Given the description of an element on the screen output the (x, y) to click on. 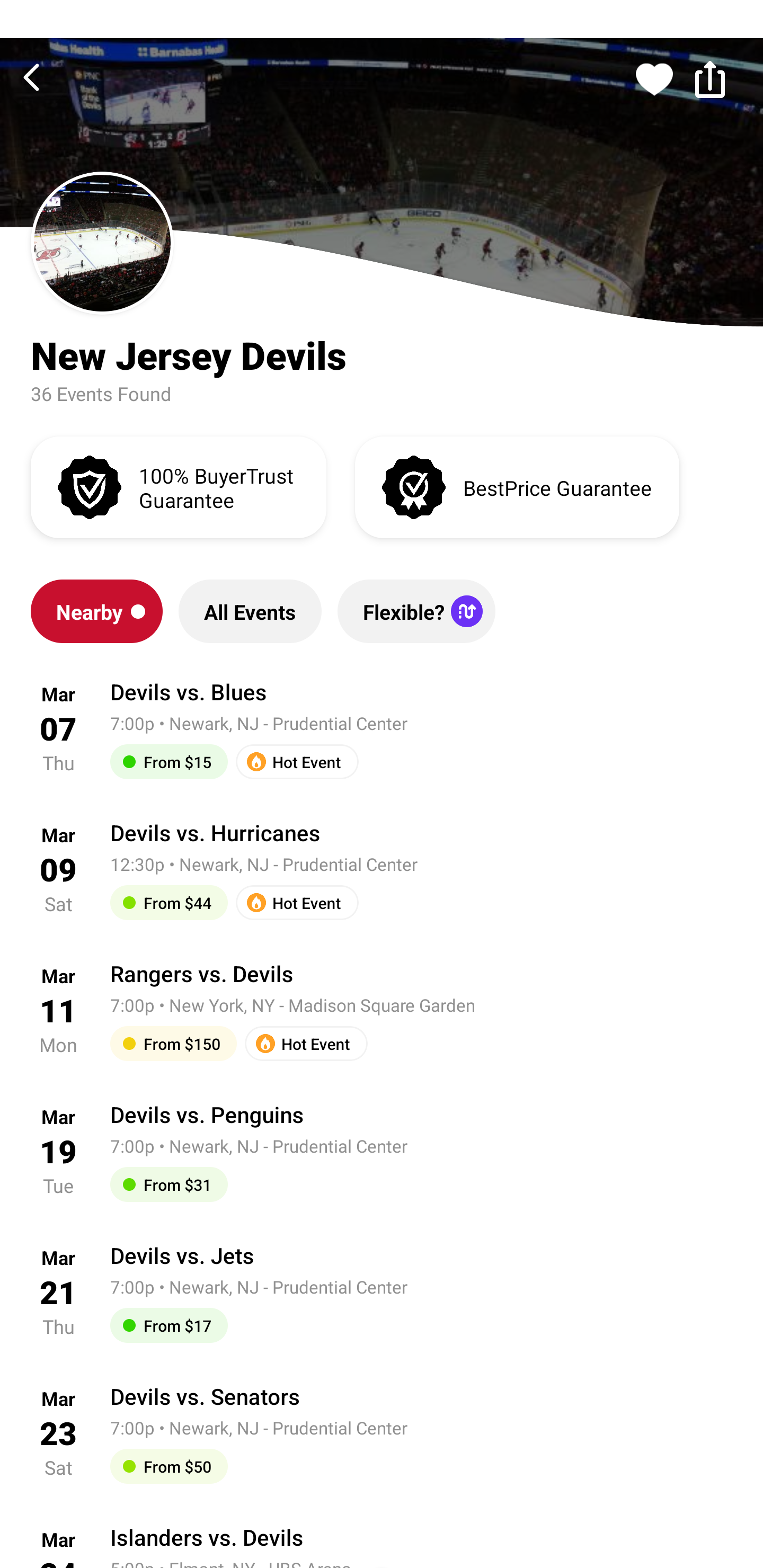
100% BuyerTrust Guarantee (178, 486)
BestPrice Guarantee (516, 486)
Nearby (96, 611)
All Events (249, 611)
Flexible? (416, 611)
